Given the description of an element on the screen output the (x, y) to click on. 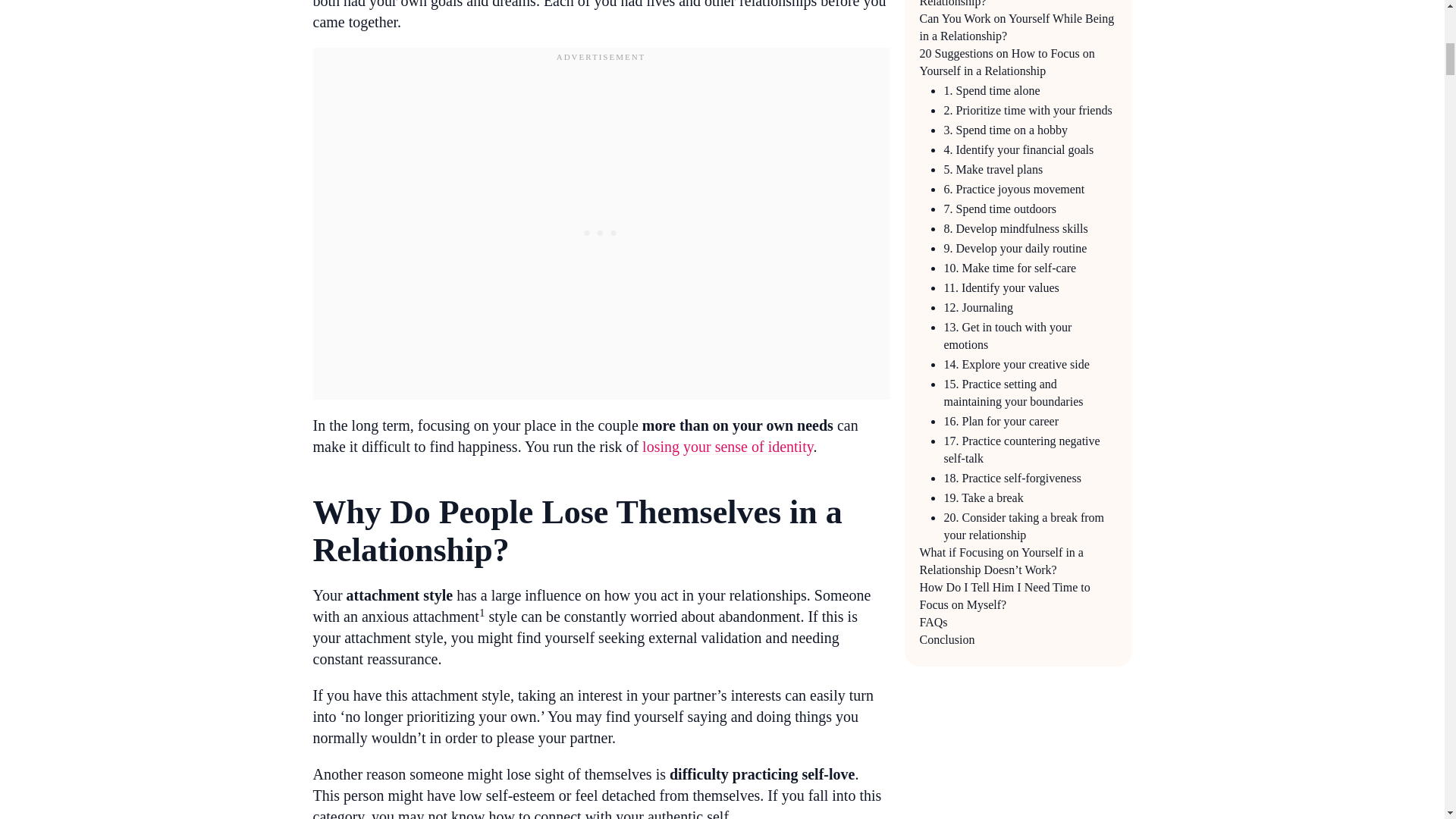
losing your sense of identity (727, 446)
